Given the description of an element on the screen output the (x, y) to click on. 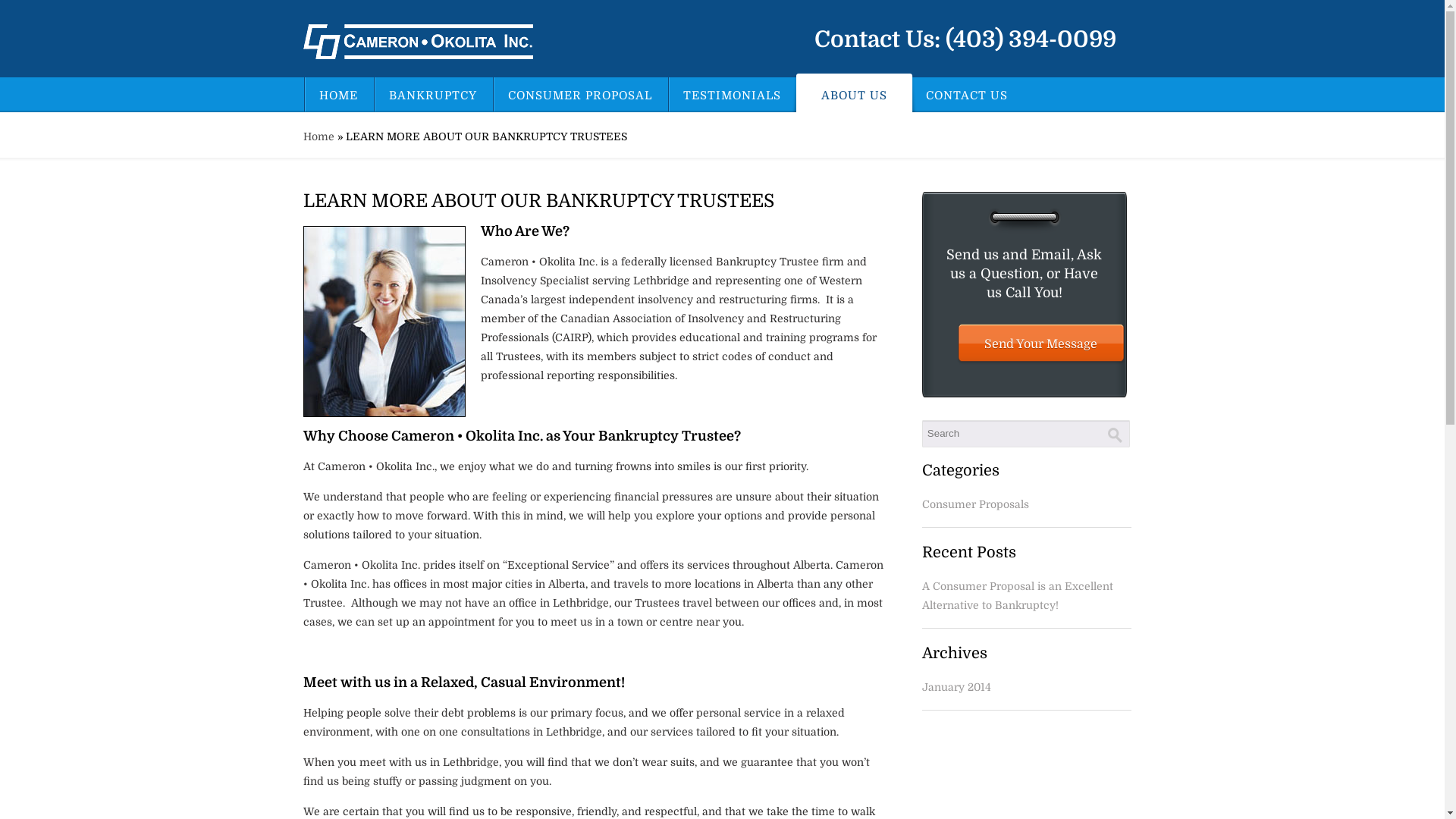
January 2014 Element type: text (956, 686)
TESTIMONIALS Element type: text (730, 94)
Consumer Proposals Element type: text (975, 504)
BANKRUPTCY Element type: text (430, 94)
Send Your Message Element type: text (1041, 343)
CONSUMER PROPOSAL Element type: text (577, 94)
CONTACT US Element type: text (964, 94)
Home Element type: text (318, 136)
HOME Element type: text (336, 94)
ABOUT US Element type: text (848, 92)
